Given the description of an element on the screen output the (x, y) to click on. 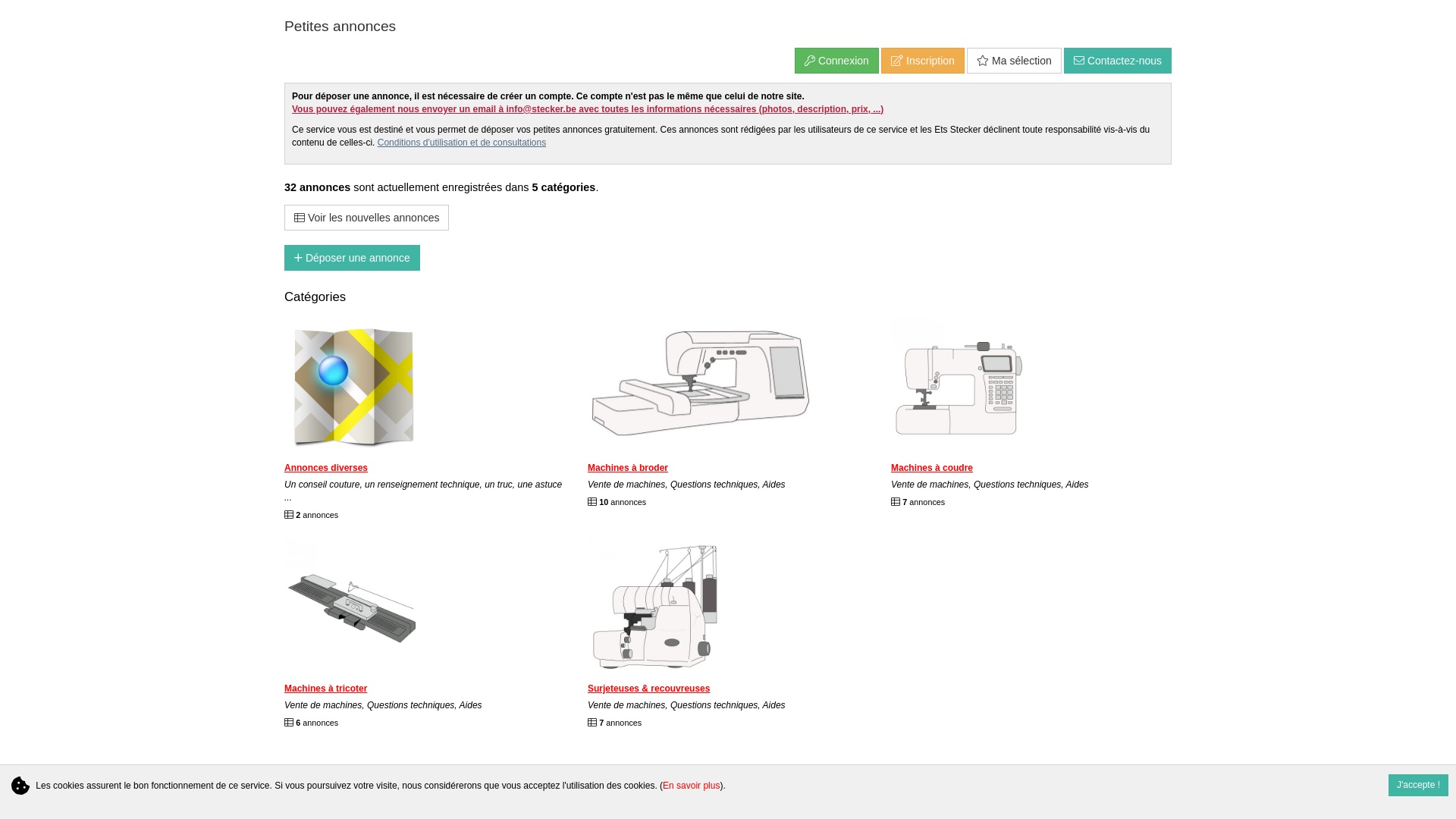
Contactez-nous Element type: text (1117, 60)
Inscription Element type: text (922, 60)
Connexion Element type: text (836, 60)
Annonces diverses Element type: text (325, 467)
Conditions d'utilisation et de consultations Element type: text (461, 142)
J'accepte ! Element type: text (1418, 785)
En savoir plus Element type: text (690, 785)
Surjeteuses & recouvreuses Element type: text (648, 688)
Voir les nouvelles annonces Element type: text (366, 217)
